Given the description of an element on the screen output the (x, y) to click on. 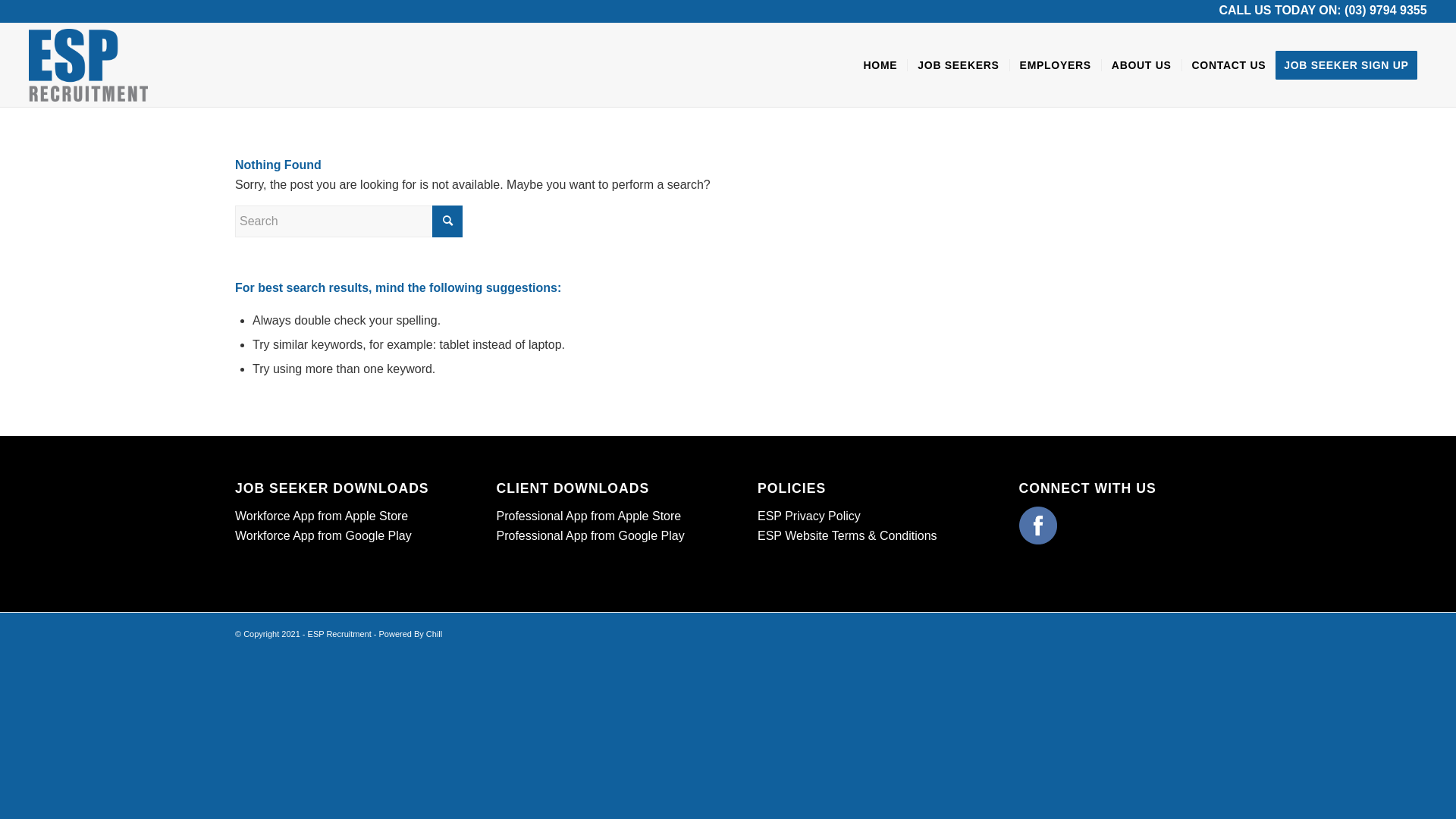
HOME Element type: text (880, 64)
Workforce App from Apple Store Element type: text (321, 515)
Workforce App from Google Play Element type: text (323, 535)
ESP Website Terms & Conditions Element type: text (847, 535)
ESP Privacy Policy Element type: text (808, 515)
Powered By Chill Element type: text (410, 633)
CONTACT US Element type: text (1228, 64)
Professional App from Apple Store Element type: text (587, 515)
ABOUT US Element type: text (1141, 64)
JOB SEEKER SIGN UP Element type: text (1350, 64)
Professional App from Google Play Element type: text (589, 535)
EMPLOYERS Element type: text (1055, 64)
JOB SEEKERS Element type: text (957, 64)
